Given the description of an element on the screen output the (x, y) to click on. 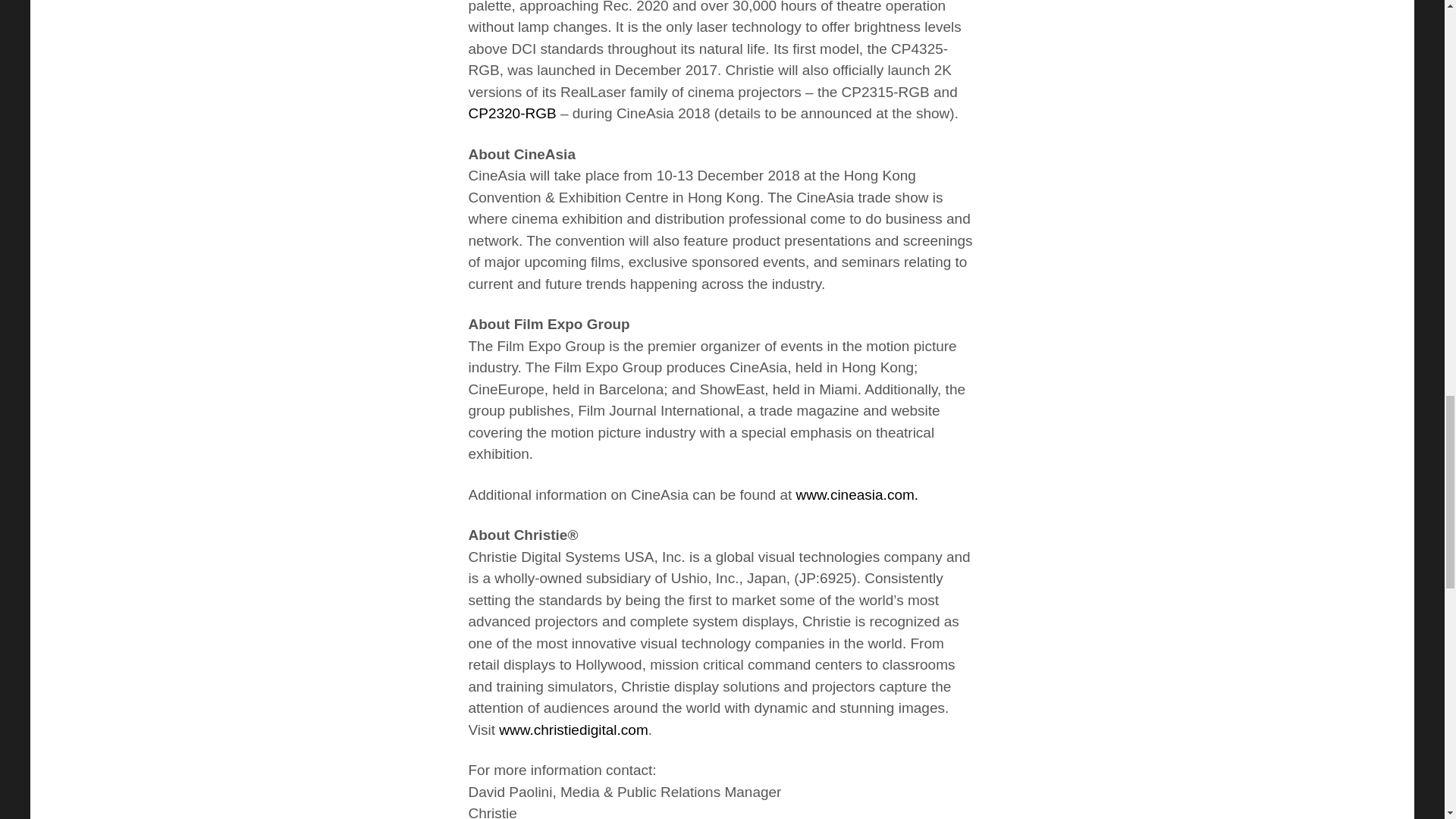
www.christiedigital.com (573, 729)
CP2320-RGB (512, 113)
www.cineasia.com. (857, 494)
